Given the description of an element on the screen output the (x, y) to click on. 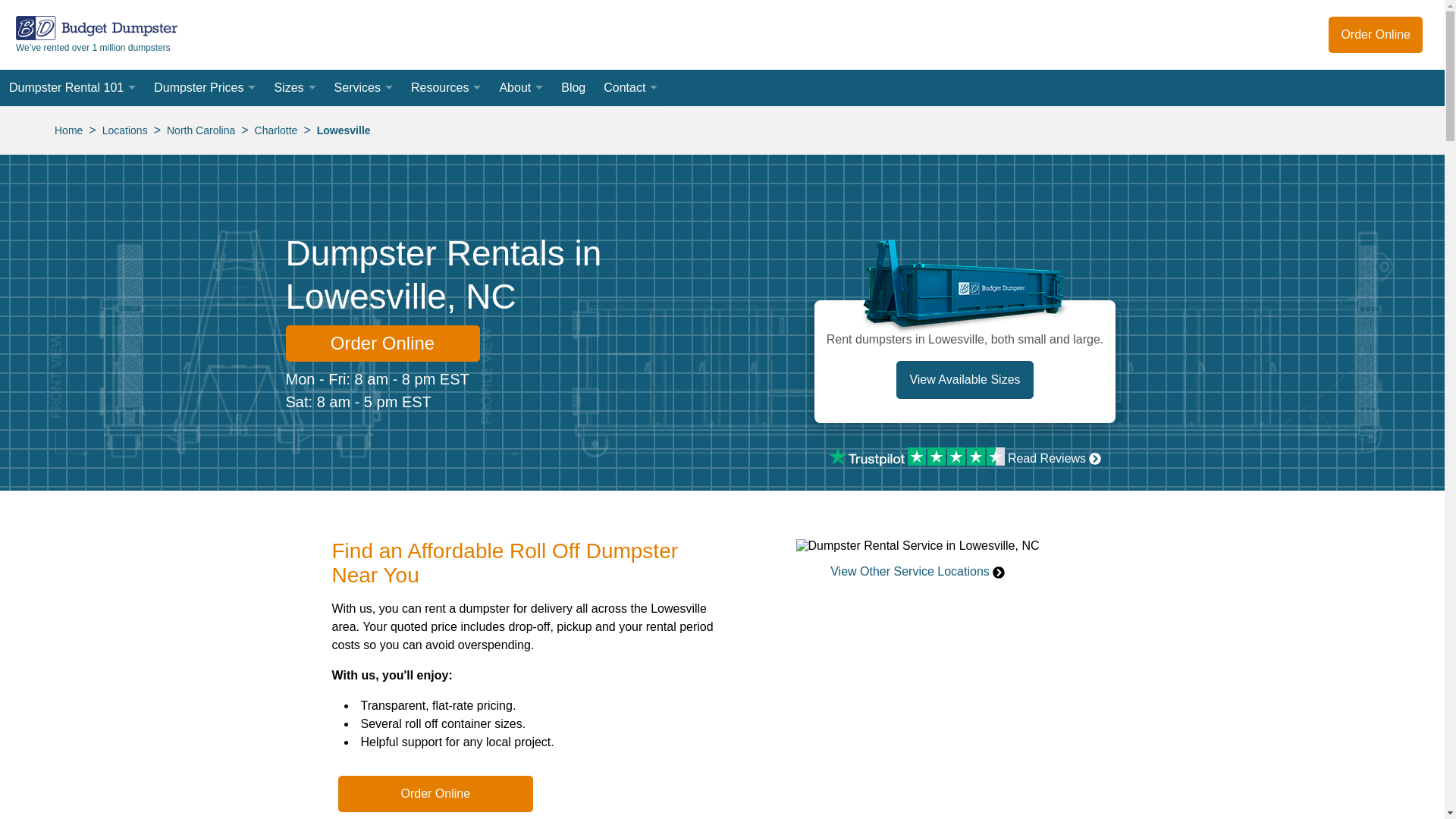
Order Online (1374, 34)
